Given the description of an element on the screen output the (x, y) to click on. 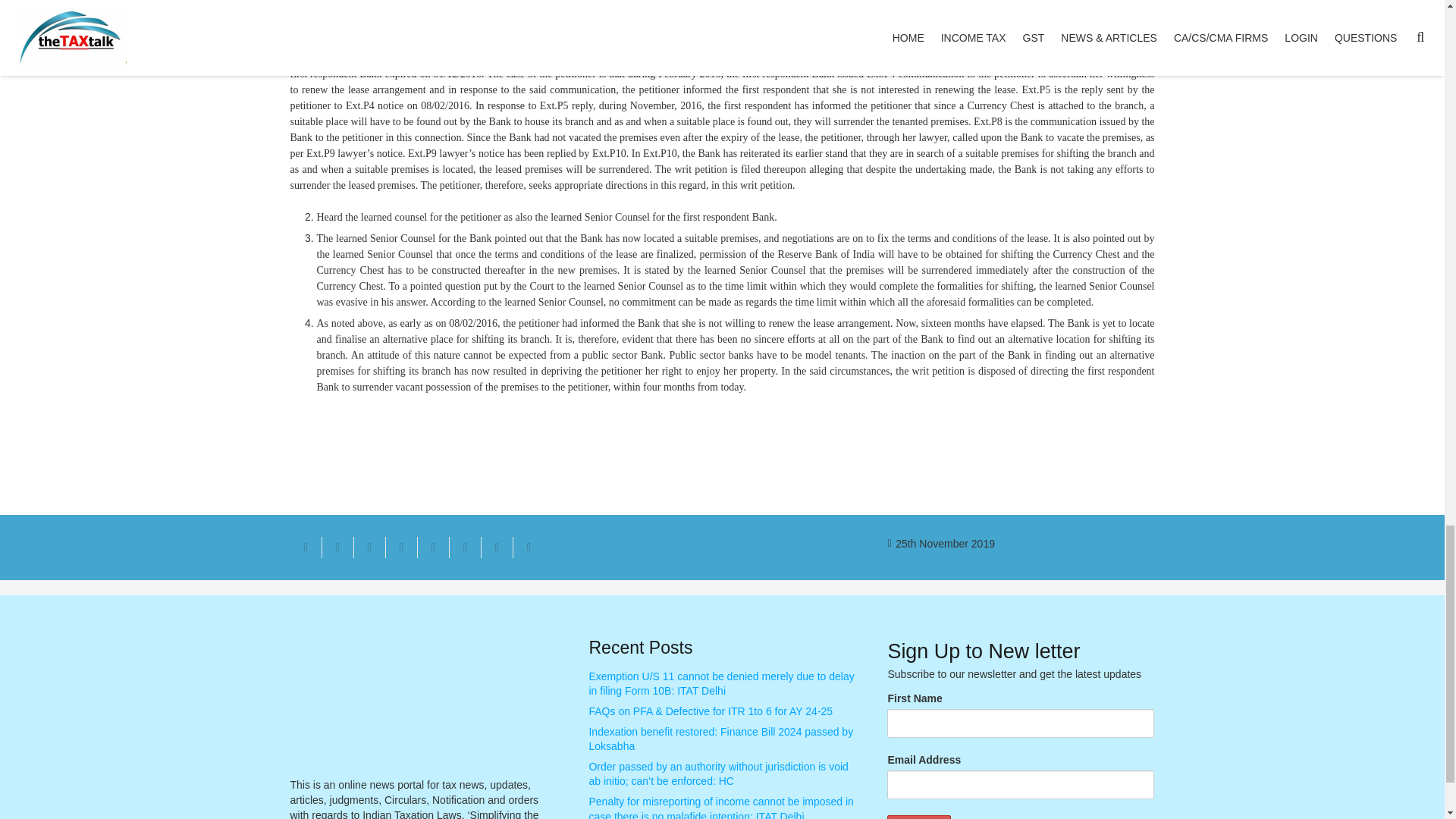
Email this (305, 547)
Share this (528, 547)
Share this (400, 547)
Submit (918, 816)
Tweet this (369, 547)
Pin this (432, 547)
Share this (337, 547)
Share this (496, 547)
Share this (464, 547)
